Given the description of an element on the screen output the (x, y) to click on. 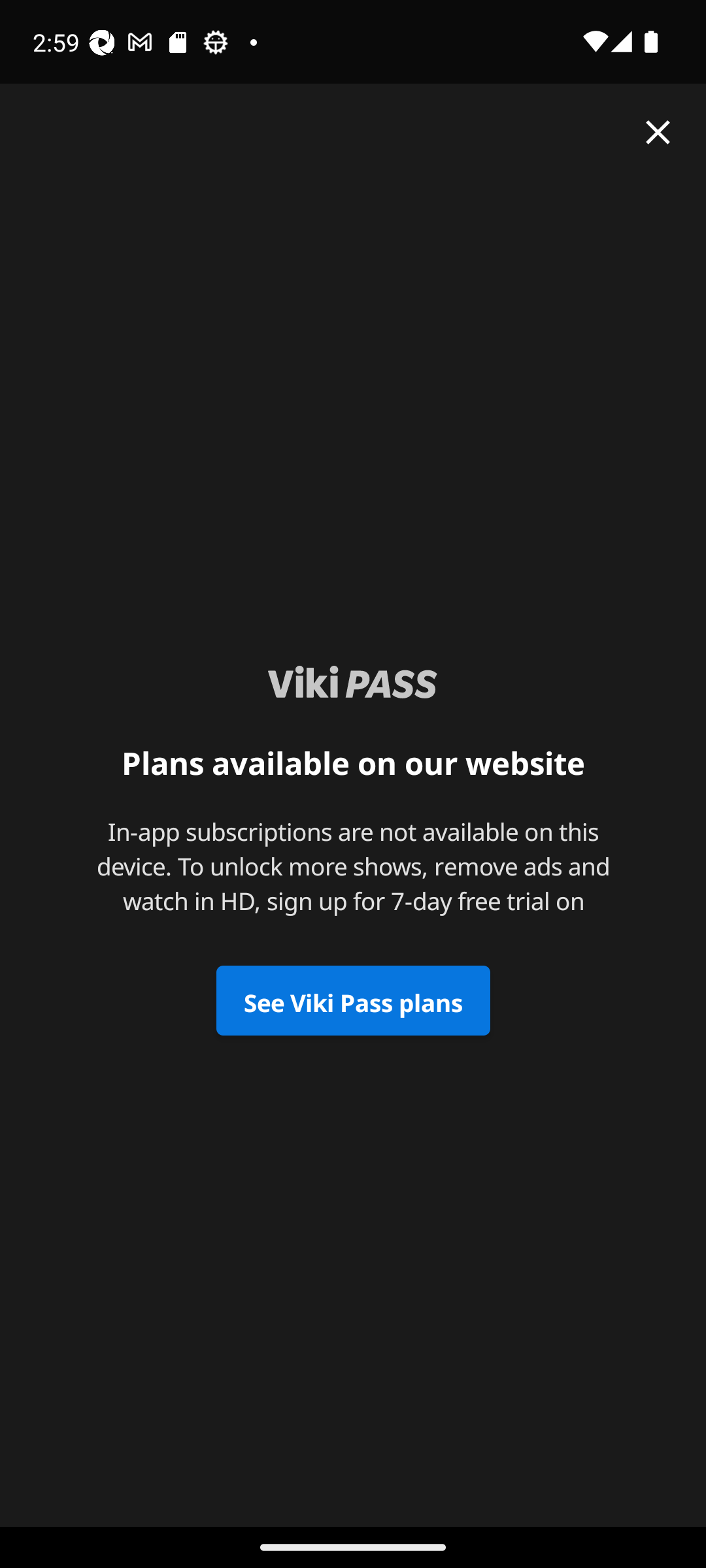
close_button (658, 132)
See Viki Pass plans (352, 1000)
